Given the description of an element on the screen output the (x, y) to click on. 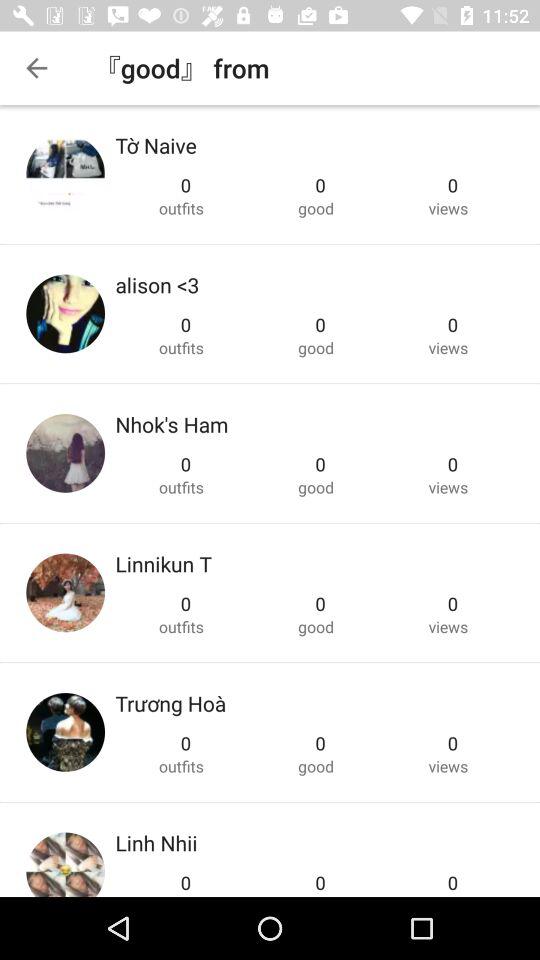
launch the icon above the   0 icon (157, 284)
